Given the description of an element on the screen output the (x, y) to click on. 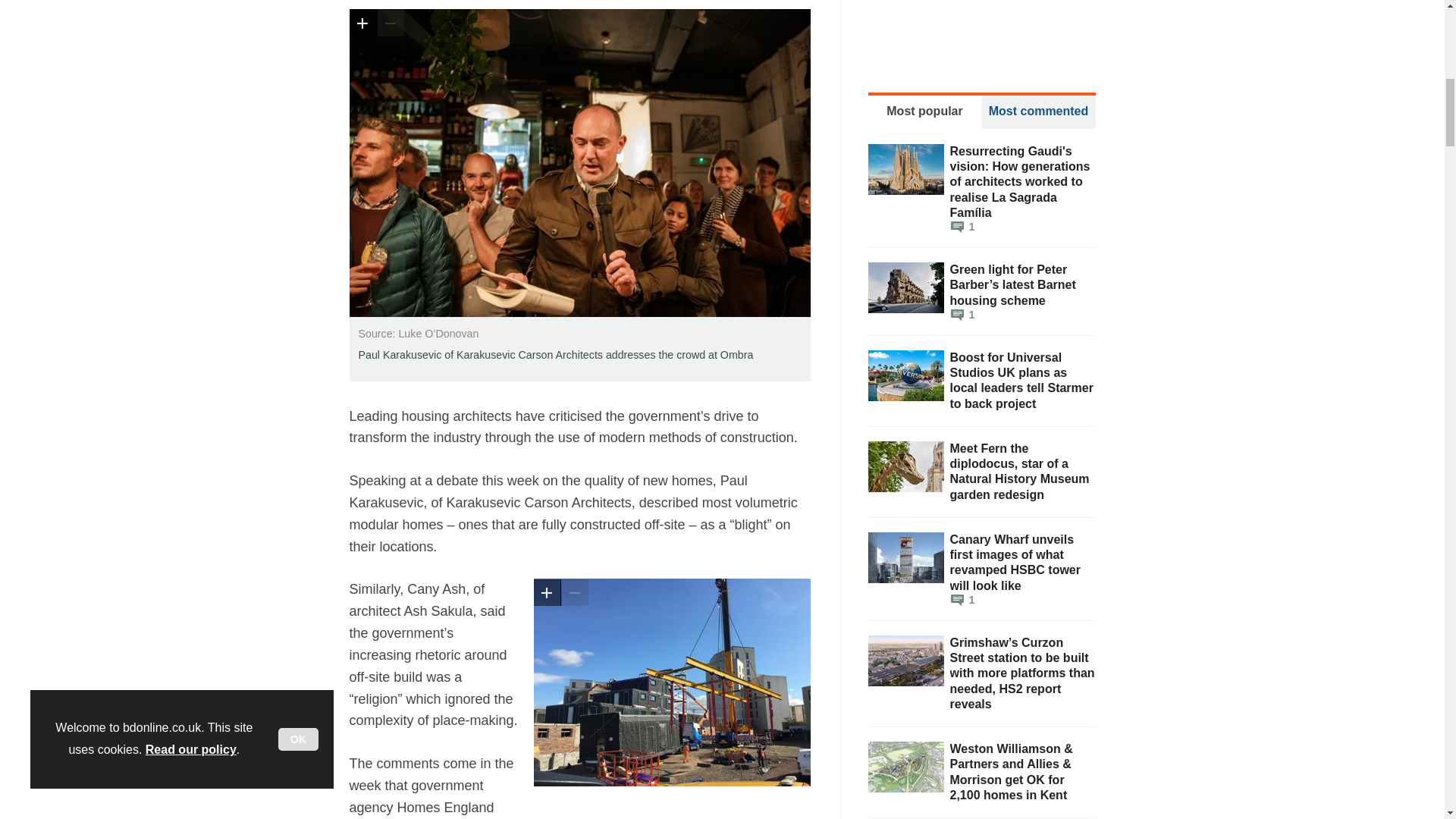
3rd party ad content (980, 28)
